Given the description of an element on the screen output the (x, y) to click on. 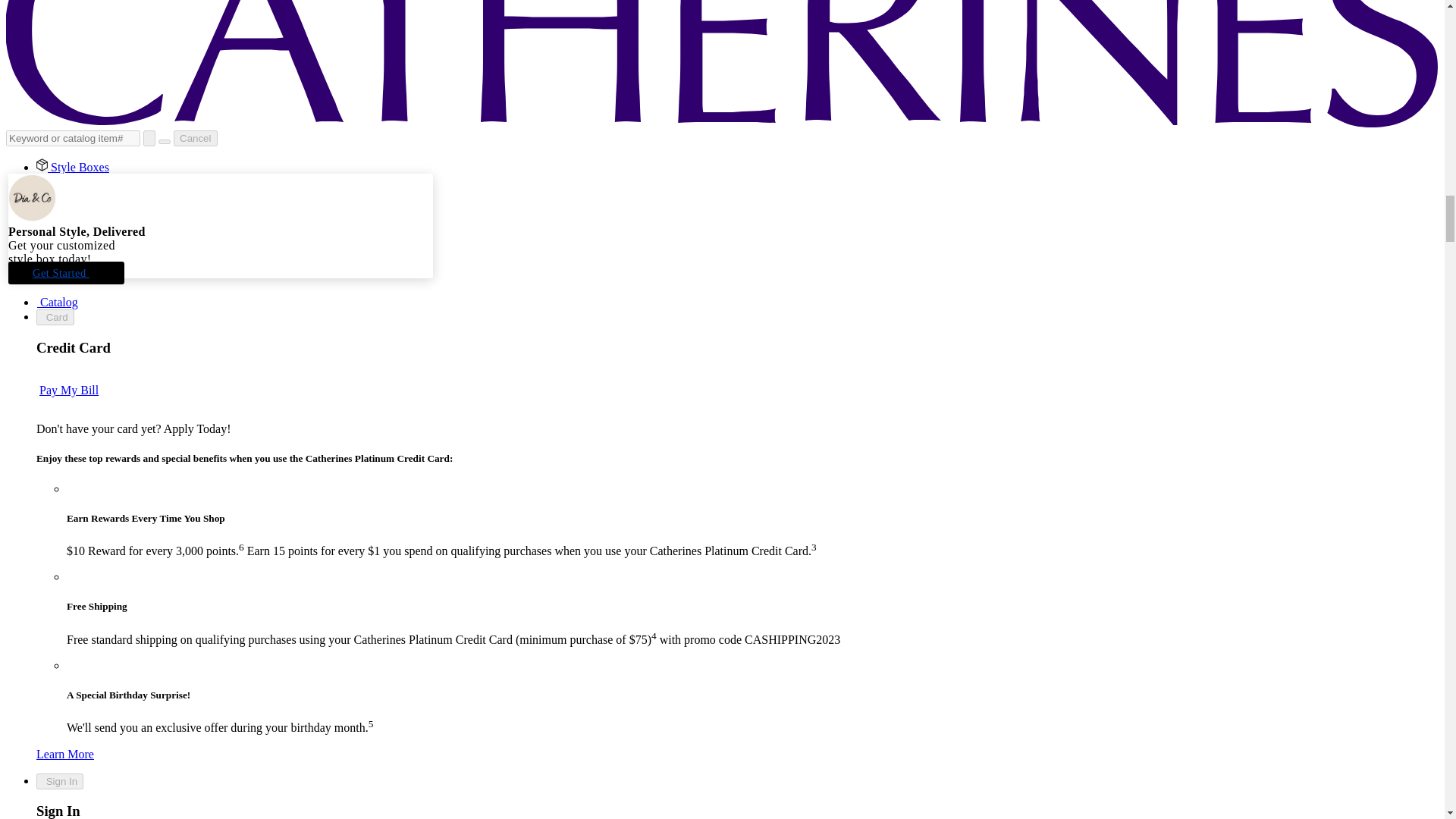
Cancel (194, 138)
Card (55, 317)
Pay My Bill (69, 390)
Get Started (65, 272)
Style Boxes (72, 166)
Catalog (57, 301)
Learn More (65, 753)
